Given the description of an element on the screen output the (x, y) to click on. 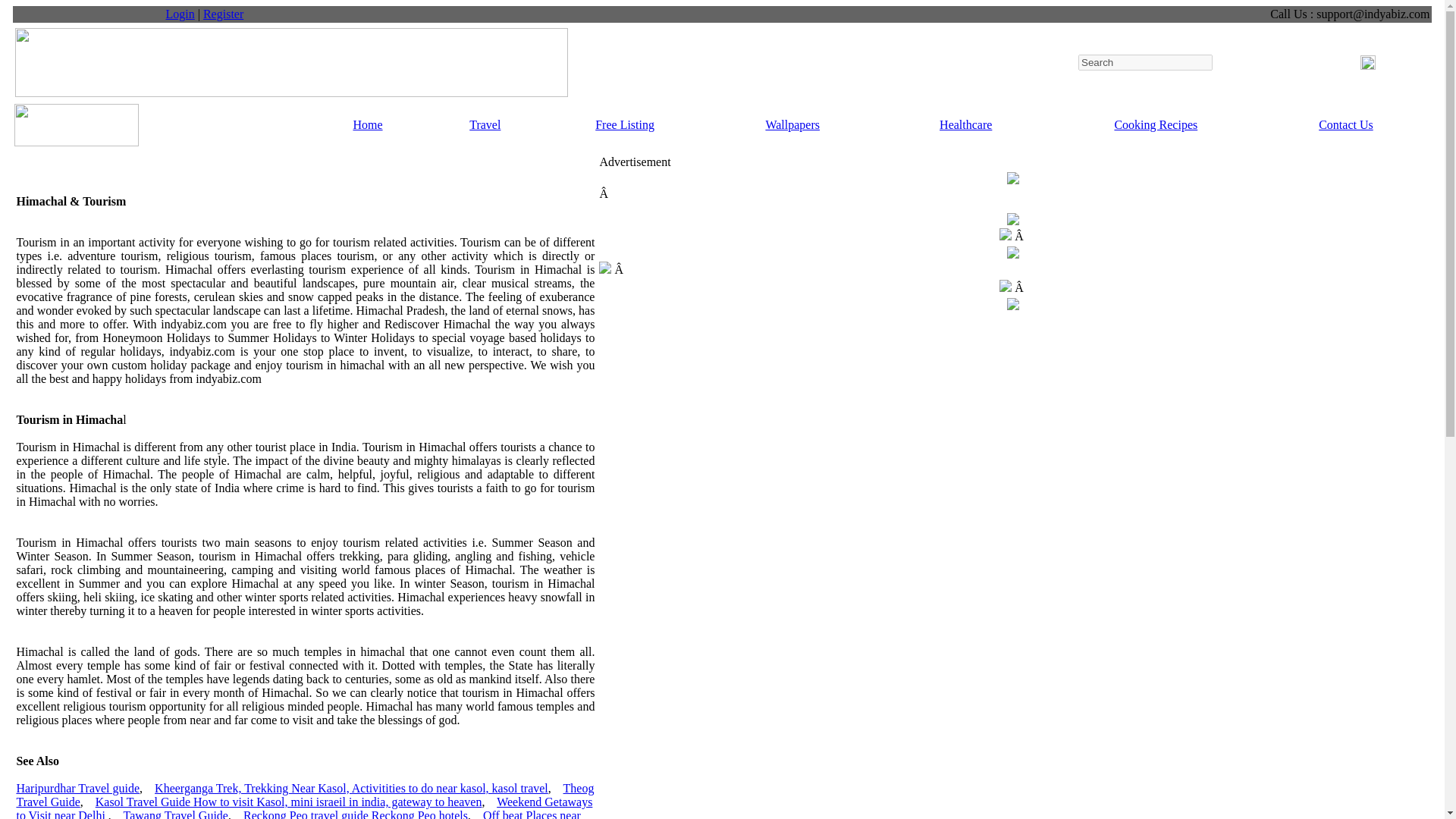
Contact Us (1346, 124)
Reckong Peo travel guide Reckong Peo hotels (355, 814)
Weekend Getaways to Visit near Delhi (304, 807)
Home (366, 124)
Off beat Places near Shimla (297, 814)
Login (180, 13)
Wallpapers (792, 124)
Haripurdhar Travel guide (77, 788)
Free Listing (624, 124)
Theog Travel Guide (305, 795)
